Given the description of an element on the screen output the (x, y) to click on. 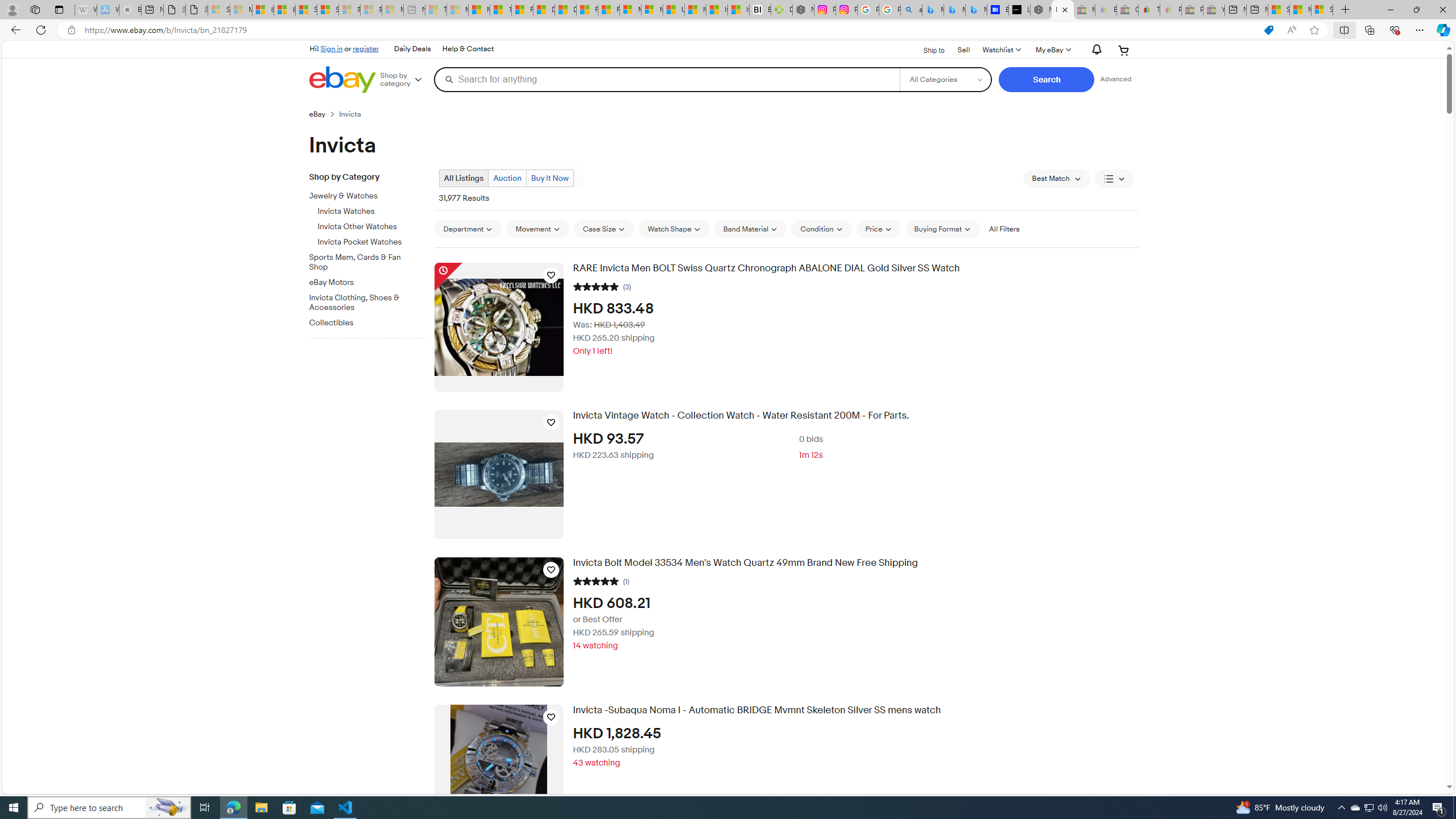
Invicta Clothing, Shoes & Accessories (371, 300)
Select a category for search (945, 78)
Watch Shape (673, 229)
Invicta Other Watches (371, 224)
Price (878, 229)
Shanghai, China hourly forecast | Microsoft Weather (1278, 9)
Microsoft Bing Travel - Flights from Hong Kong to Bangkok (933, 9)
Buying Format (941, 229)
Jewelry & Watches (371, 194)
eBay Motors (362, 282)
